Given the description of an element on the screen output the (x, y) to click on. 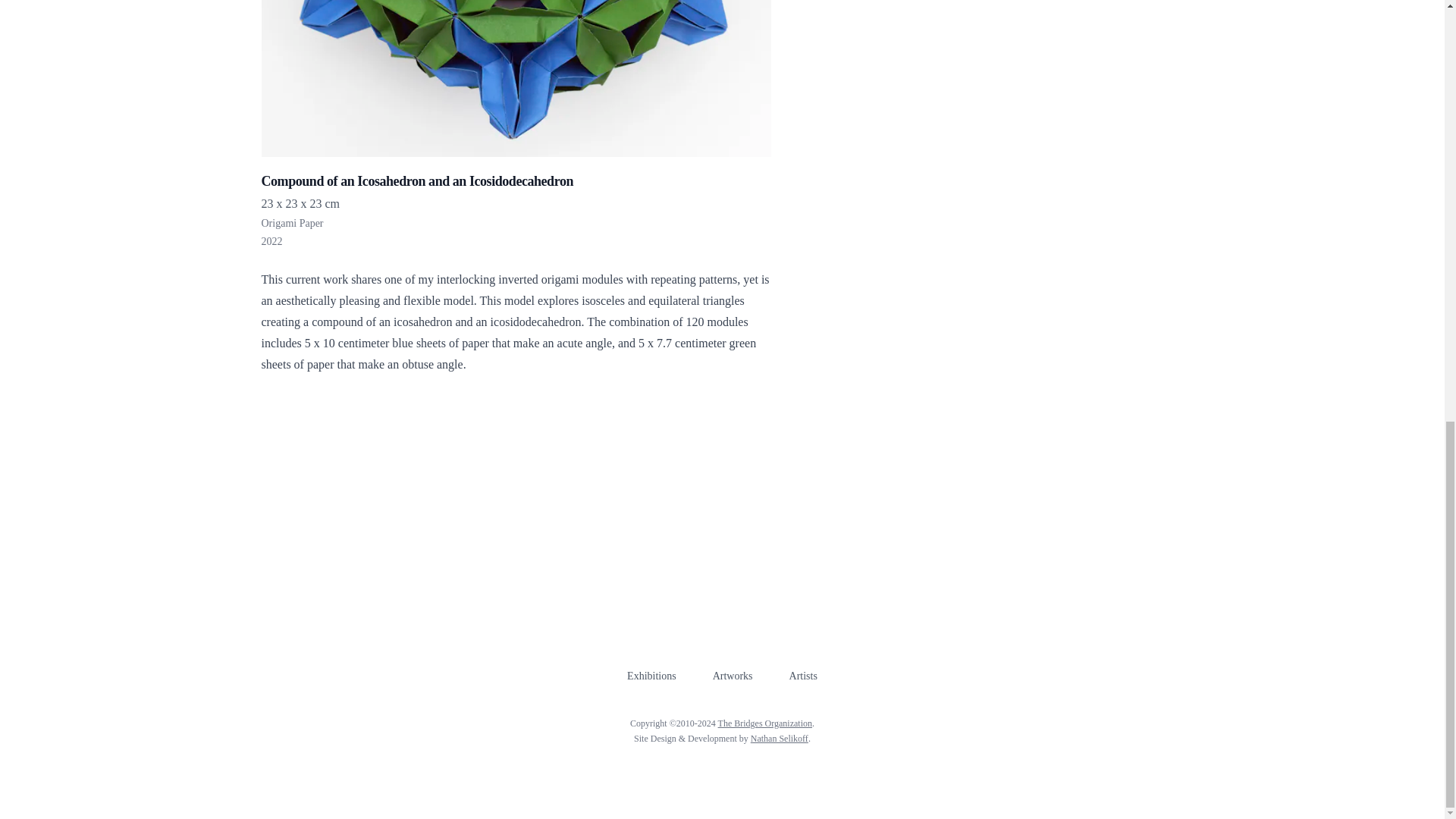
The Bridges Organization (764, 723)
Nathan Selikoff (779, 738)
Artworks (732, 675)
Artists (802, 675)
Exhibitions (652, 675)
